Given the description of an element on the screen output the (x, y) to click on. 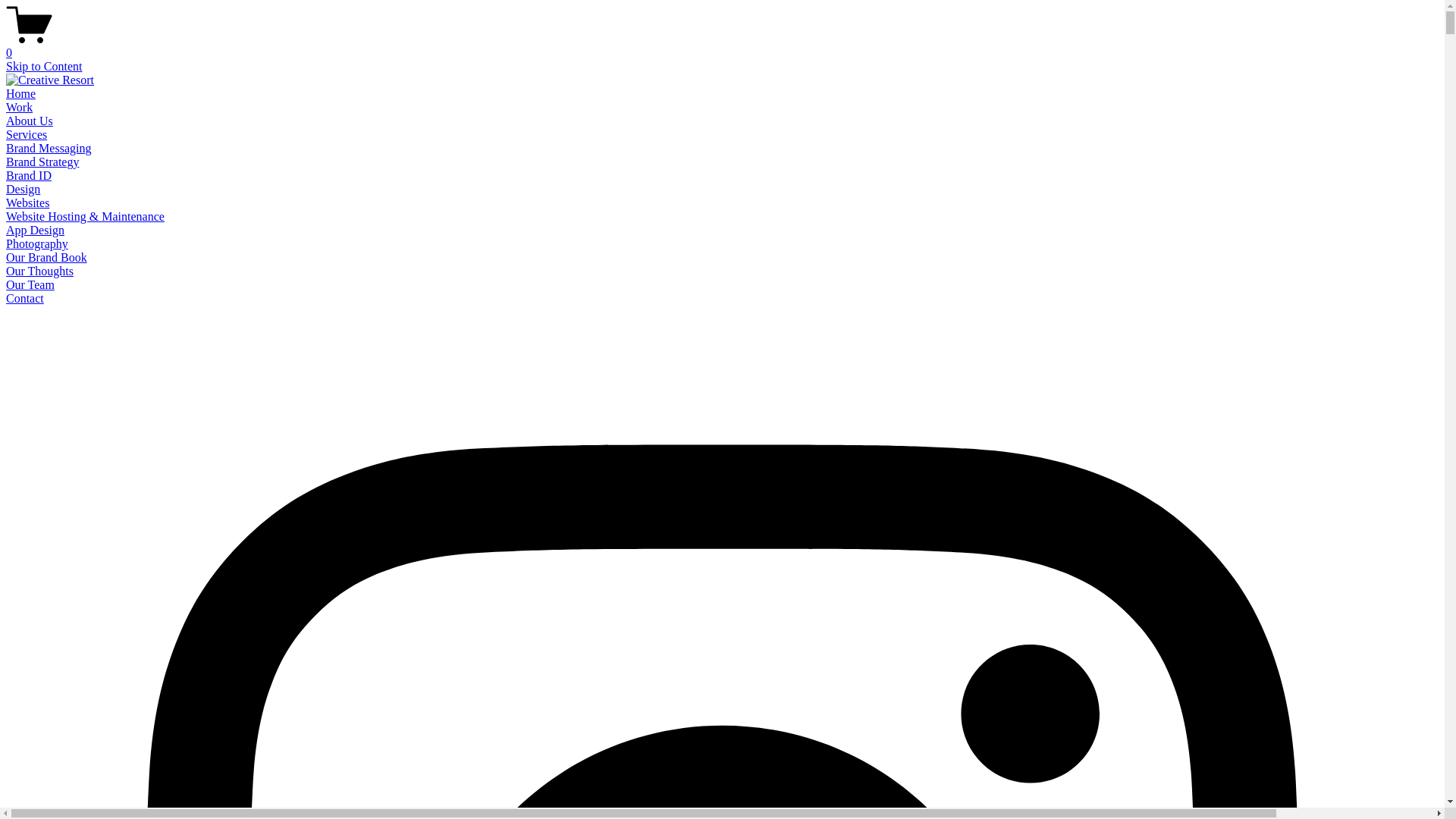
Services Element type: text (26, 134)
Brand Messaging Element type: text (48, 147)
Our Brand Book Element type: text (46, 257)
Home Element type: text (20, 93)
Skip to Content Element type: text (43, 65)
Brand Strategy Element type: text (42, 161)
Our Thoughts Element type: text (39, 270)
App Design Element type: text (35, 229)
Design Element type: text (23, 188)
Our Team Element type: text (30, 284)
Photography Element type: text (37, 243)
Website Hosting & Maintenance Element type: text (85, 216)
Work Element type: text (19, 106)
About Us Element type: text (29, 120)
0 Element type: text (722, 45)
Websites Element type: text (27, 202)
Contact Element type: text (24, 297)
Brand ID Element type: text (28, 175)
